Given the description of an element on the screen output the (x, y) to click on. 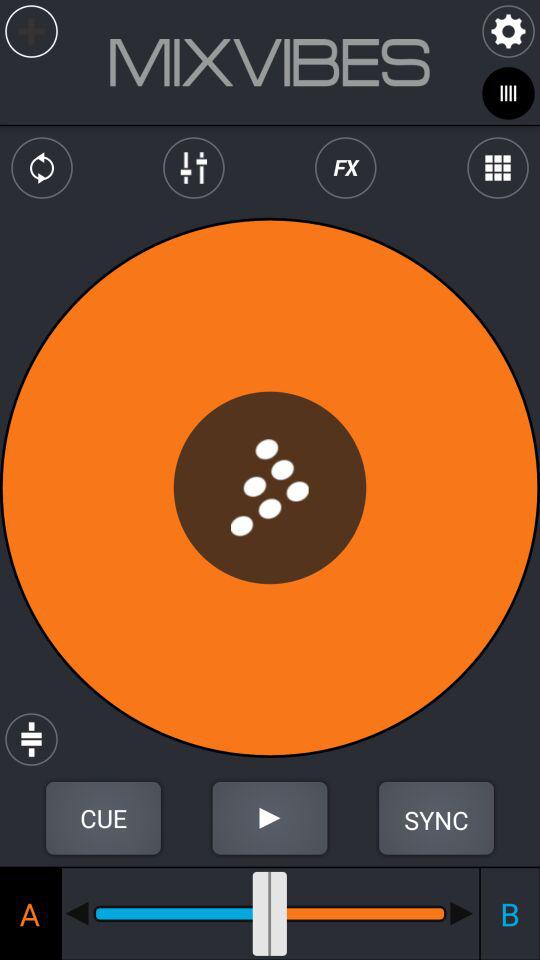
sync music (436, 818)
